Given the description of an element on the screen output the (x, y) to click on. 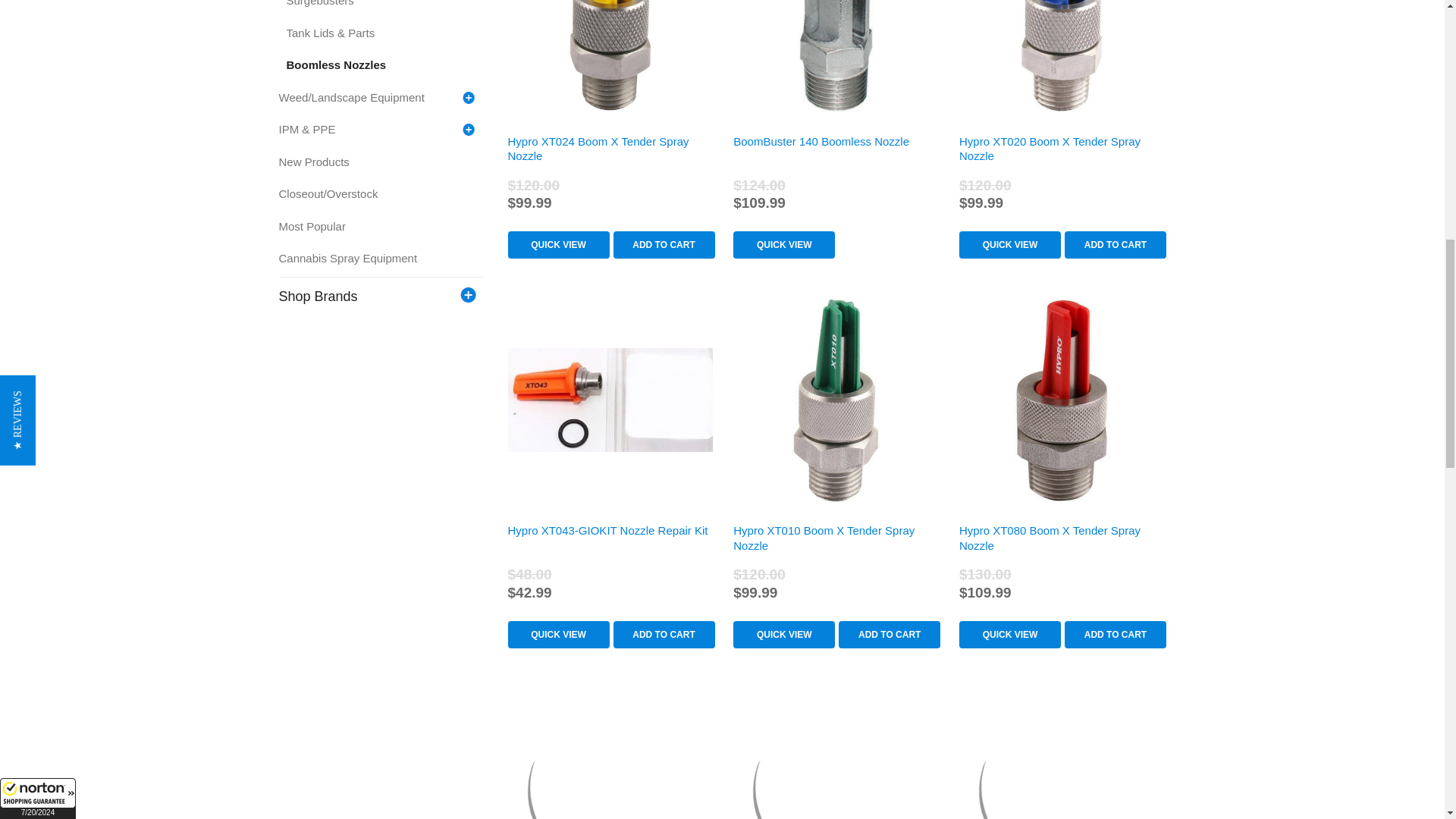
Hypro XT080-GIOKIT Nozzle Repair Kit (835, 753)
Hypro XT010 Boom X Tender Spray Nozzle (835, 400)
Hypro XT043 Boom X Tender Spray Nozzle (1061, 400)
Hypro XT024 Boom X Tender Spray Nozzle (609, 56)
Hypro XT043-GIOKIT Nozzle Repair Kit (610, 400)
BoomBuster 265 Boomless Nozzle (609, 753)
BoomBuster 140 Boomless Nozzle (836, 56)
Hypro XT020 Boom X Tender Spray Nozzle (1061, 56)
BoomBuster 180-10 Boomless Nozzle (1061, 753)
